Given the description of an element on the screen output the (x, y) to click on. 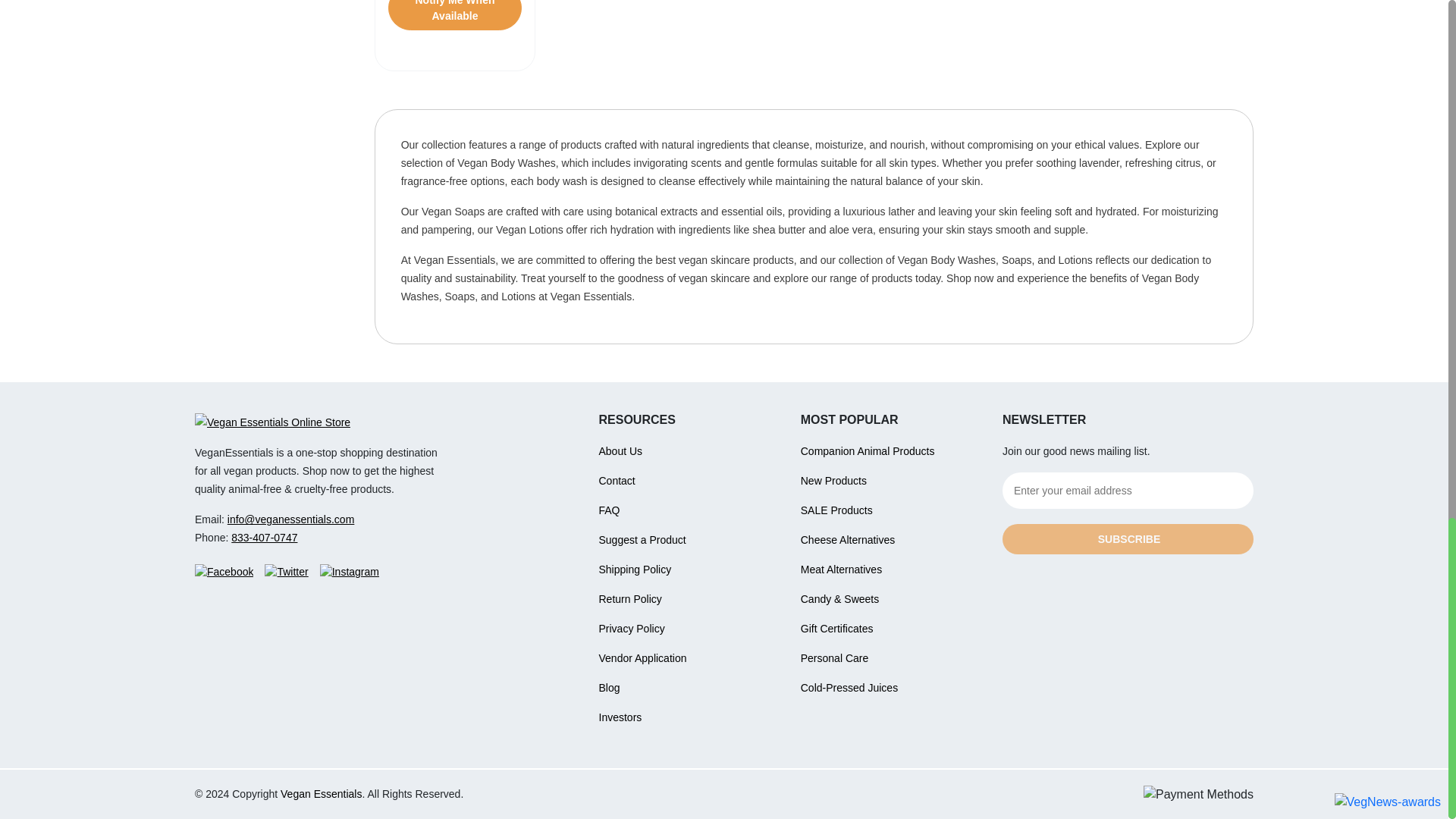
SUBSCRIBE (1128, 539)
